Given the description of an element on the screen output the (x, y) to click on. 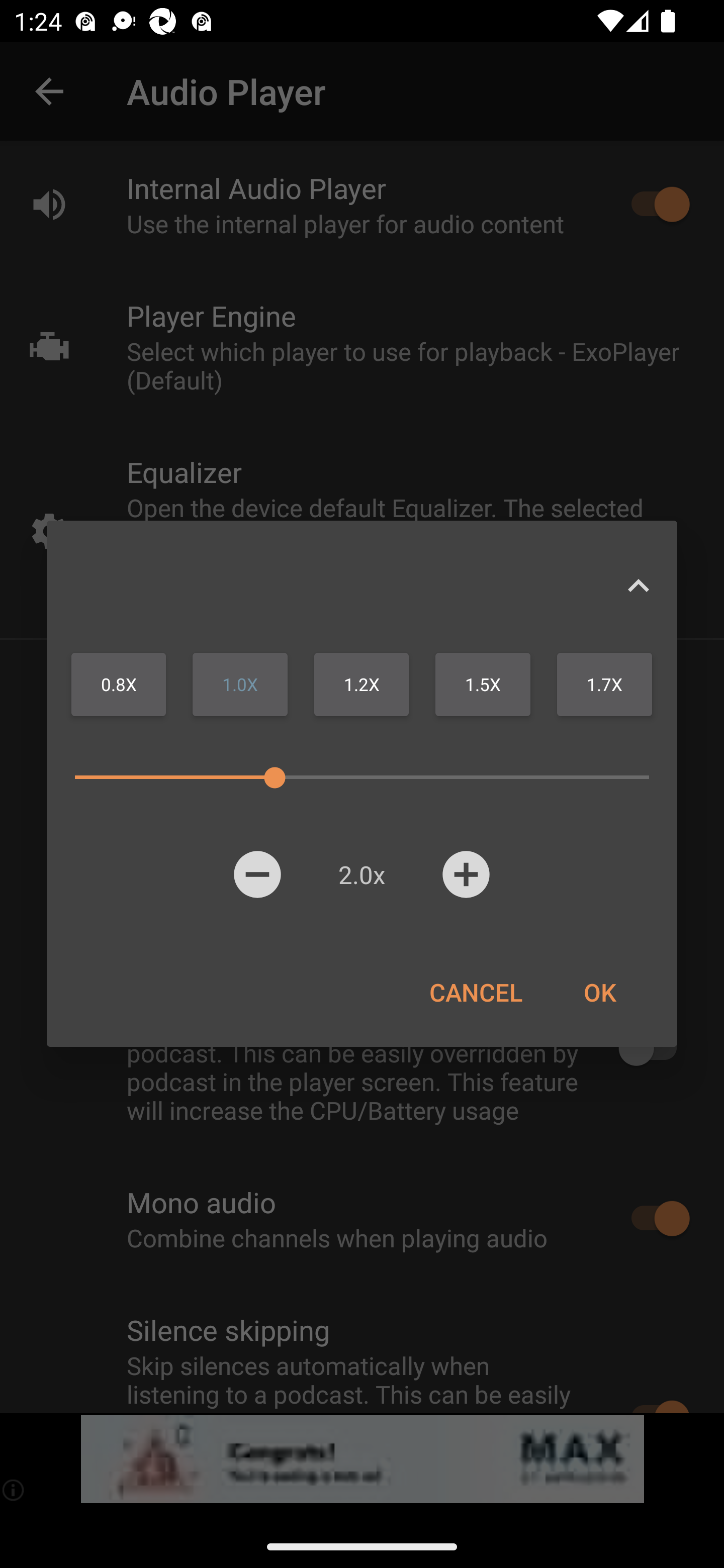
Expand (637, 585)
0.8X (118, 683)
1.0X (239, 683)
1.2X (360, 683)
1.5X (482, 683)
1.7X (604, 683)
2.0x (361, 873)
CANCEL (475, 992)
OK (599, 992)
